Given the description of an element on the screen output the (x, y) to click on. 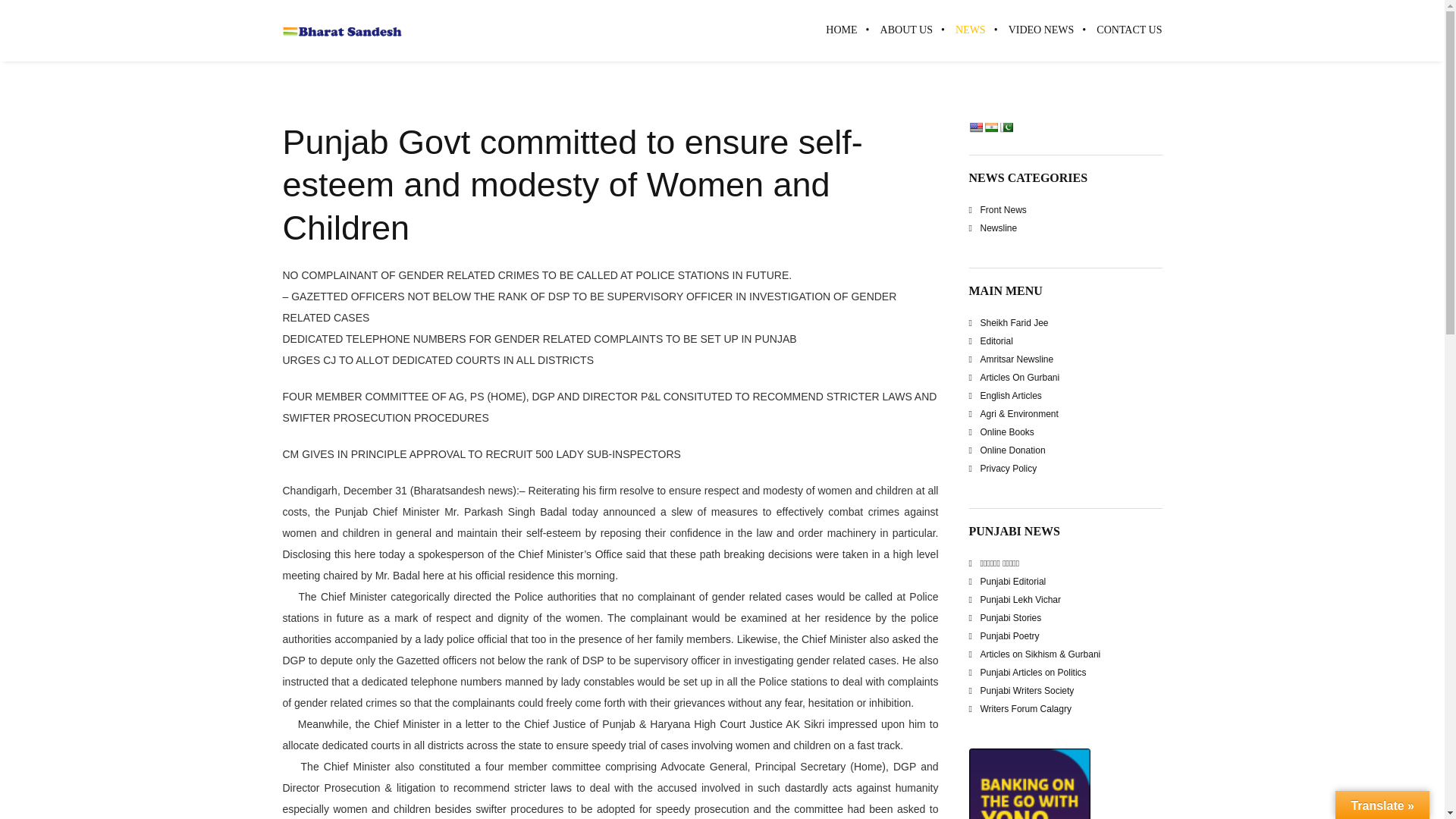
Editorial (995, 340)
Hindi (990, 127)
Amritsar Newsline (1015, 358)
Punjabi Poetry (1009, 635)
Online Donation (1012, 450)
Newsline (997, 227)
HOME (840, 30)
Online Books (1006, 431)
Punjabi Stories (1010, 617)
NEWS (970, 30)
English (975, 127)
Punjabi Lekh Vichar (1020, 599)
Front News (1002, 209)
Punjabi (1005, 127)
Punjabi Editorial (1012, 581)
